Given the description of an element on the screen output the (x, y) to click on. 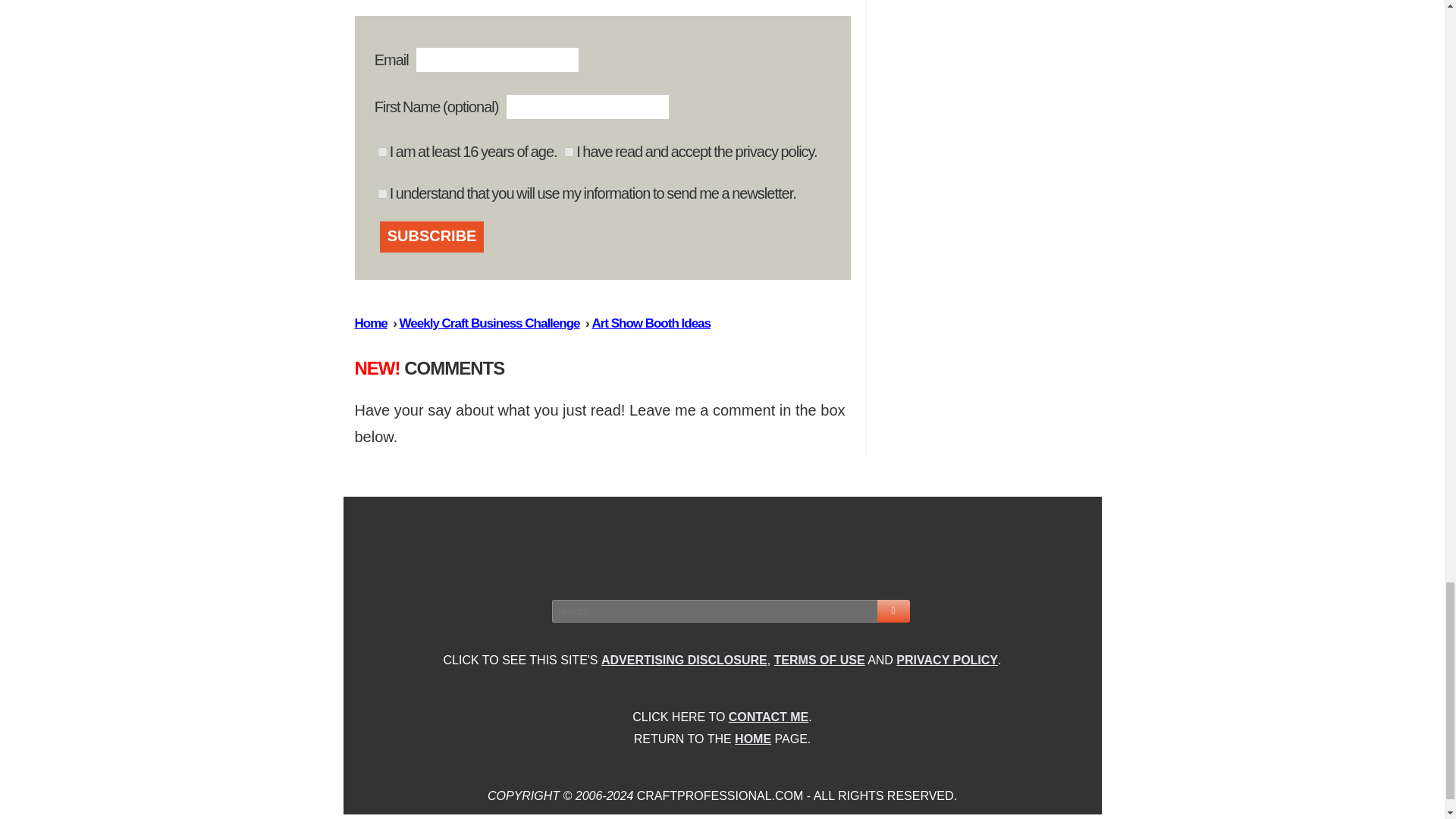
Art Show Booth Ideas (650, 323)
on (382, 152)
on (382, 194)
Logo (722, 545)
ADVERTISING DISCLOSURE (684, 659)
Weekly Craft Business Challenge (488, 323)
Home (371, 323)
SUBSCRIBE (432, 236)
on (568, 152)
